Given the description of an element on the screen output the (x, y) to click on. 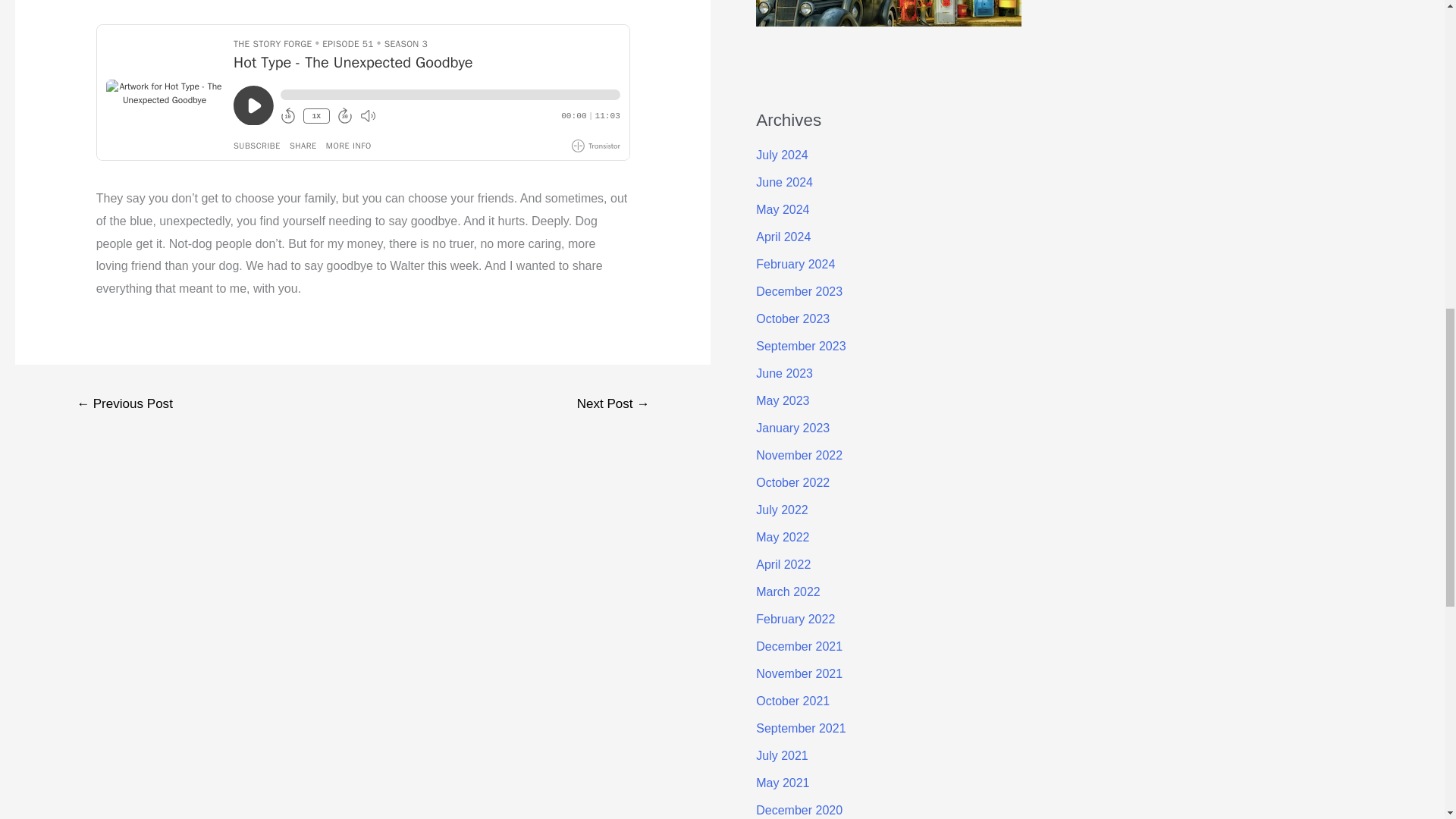
June 2023 (783, 373)
May 2023 (782, 400)
June 2024 (783, 182)
July 2024 (781, 154)
February 2024 (794, 264)
April 2024 (782, 236)
September 2023 (800, 345)
May 2024 (782, 209)
October 2023 (792, 318)
December 2023 (799, 291)
